Given the description of an element on the screen output the (x, y) to click on. 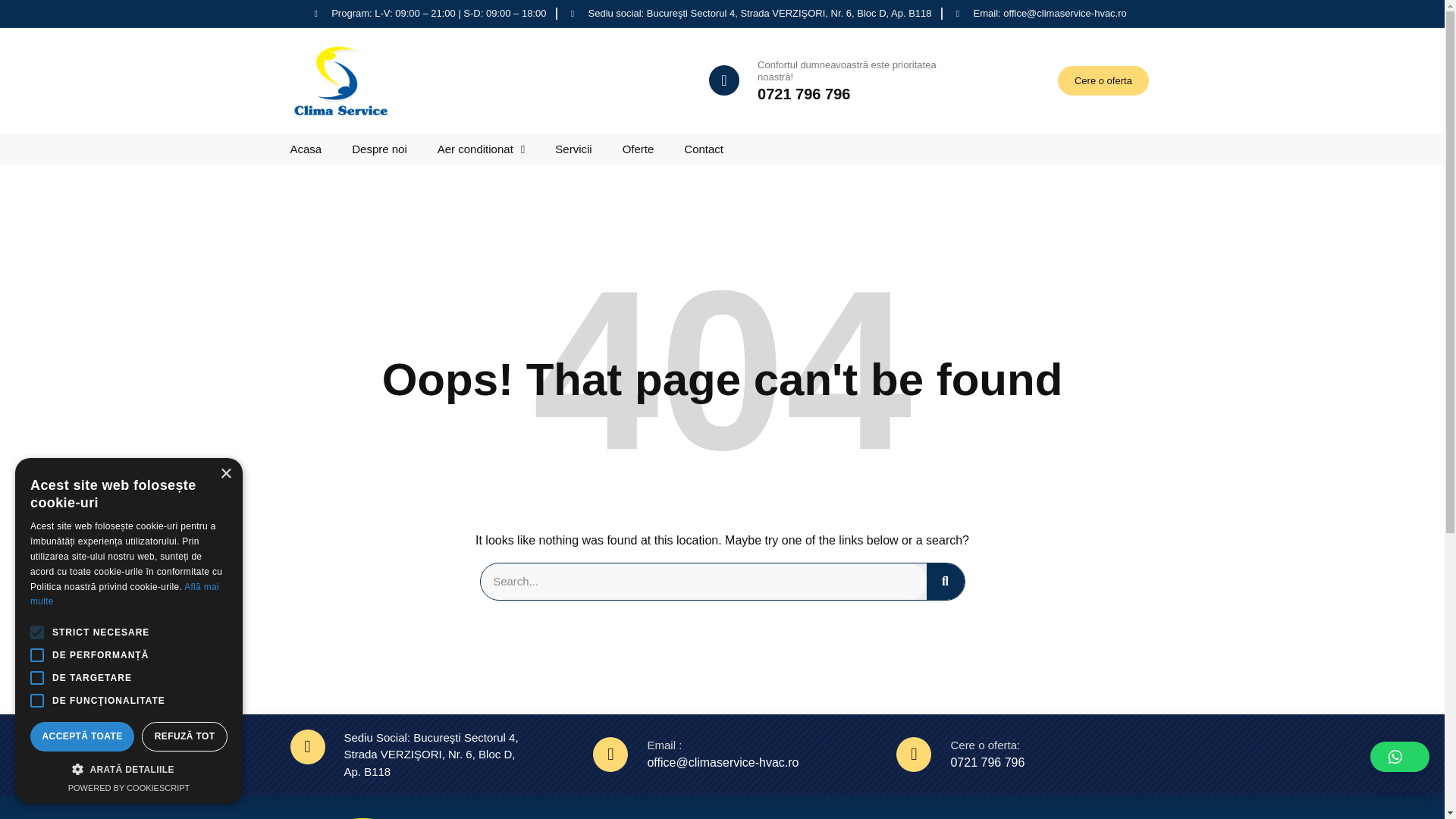
Search (703, 581)
Cere o oferta (1103, 81)
Consent Management Platform (129, 787)
Search (944, 581)
